Given the description of an element on the screen output the (x, y) to click on. 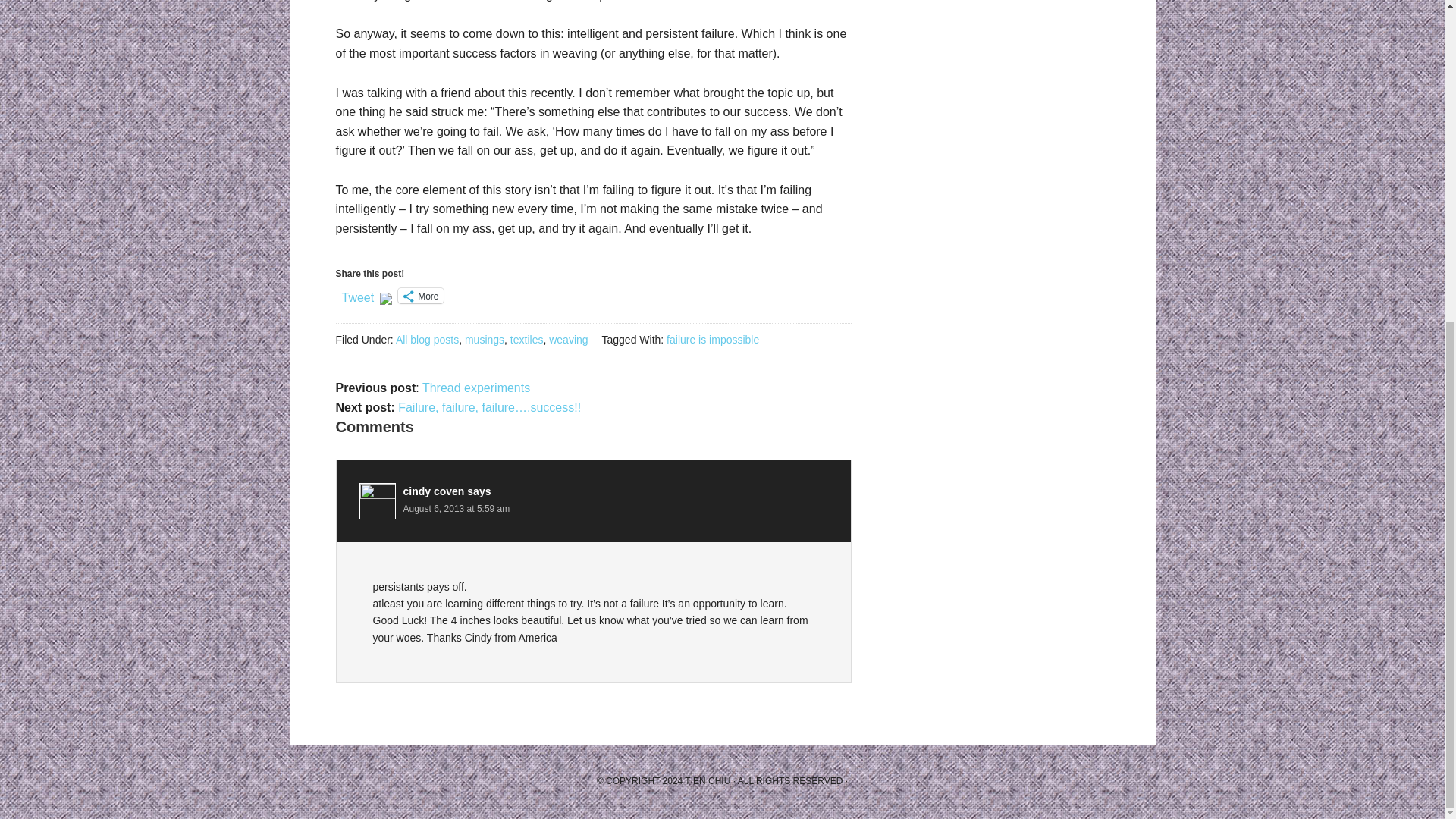
More (419, 295)
Thread experiments (475, 387)
Tweet (357, 295)
textiles (527, 339)
musings (483, 339)
All blog posts (427, 339)
weaving (568, 339)
TIEN CHIU (707, 780)
August 6, 2013 at 5:59 am (457, 508)
failure is impossible (712, 339)
